Given the description of an element on the screen output the (x, y) to click on. 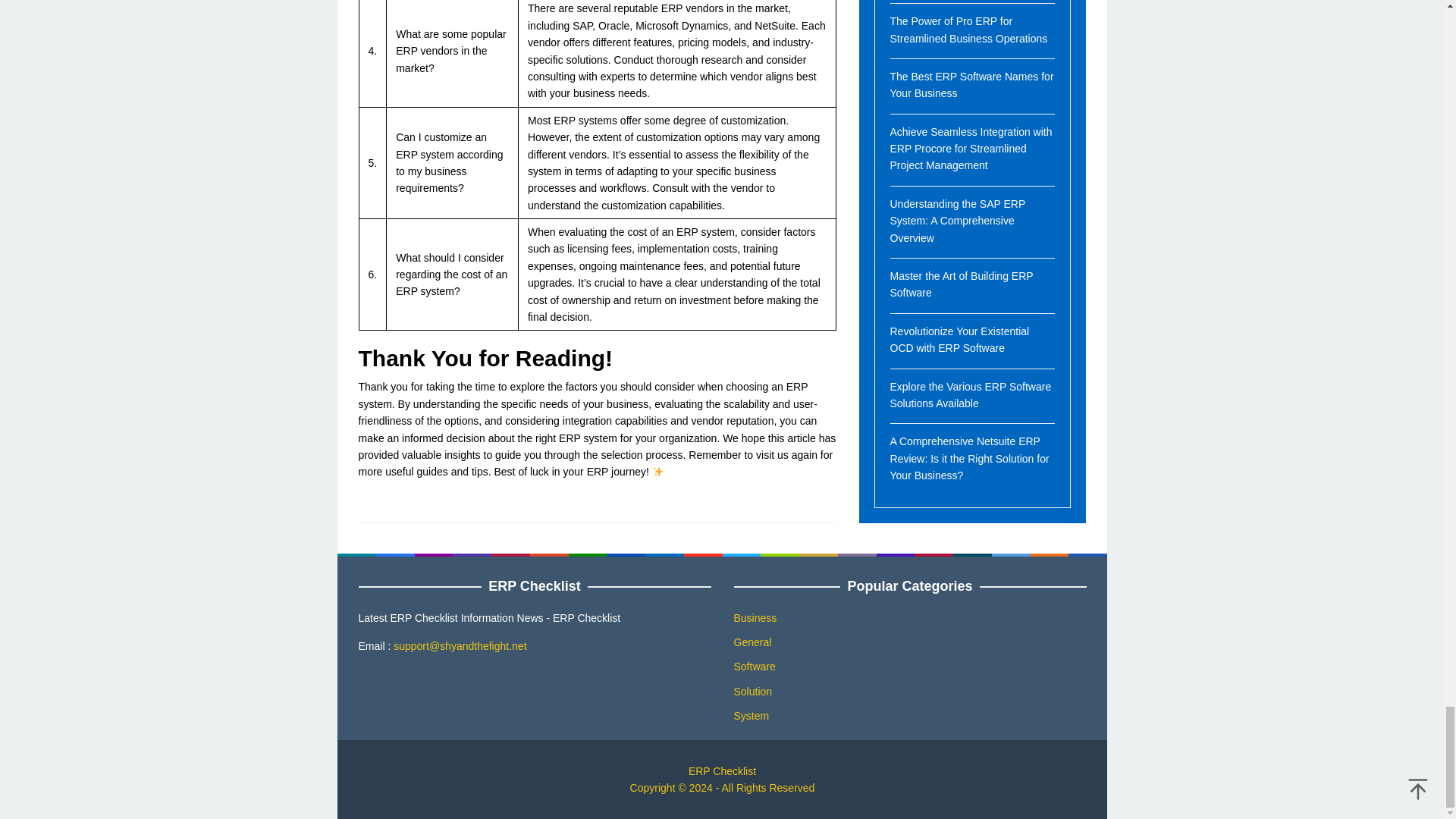
ERP Checklist (721, 770)
ERP Checklist (721, 770)
Business (755, 617)
Software (754, 666)
System (751, 715)
General (752, 642)
Solution (753, 691)
